Given the description of an element on the screen output the (x, y) to click on. 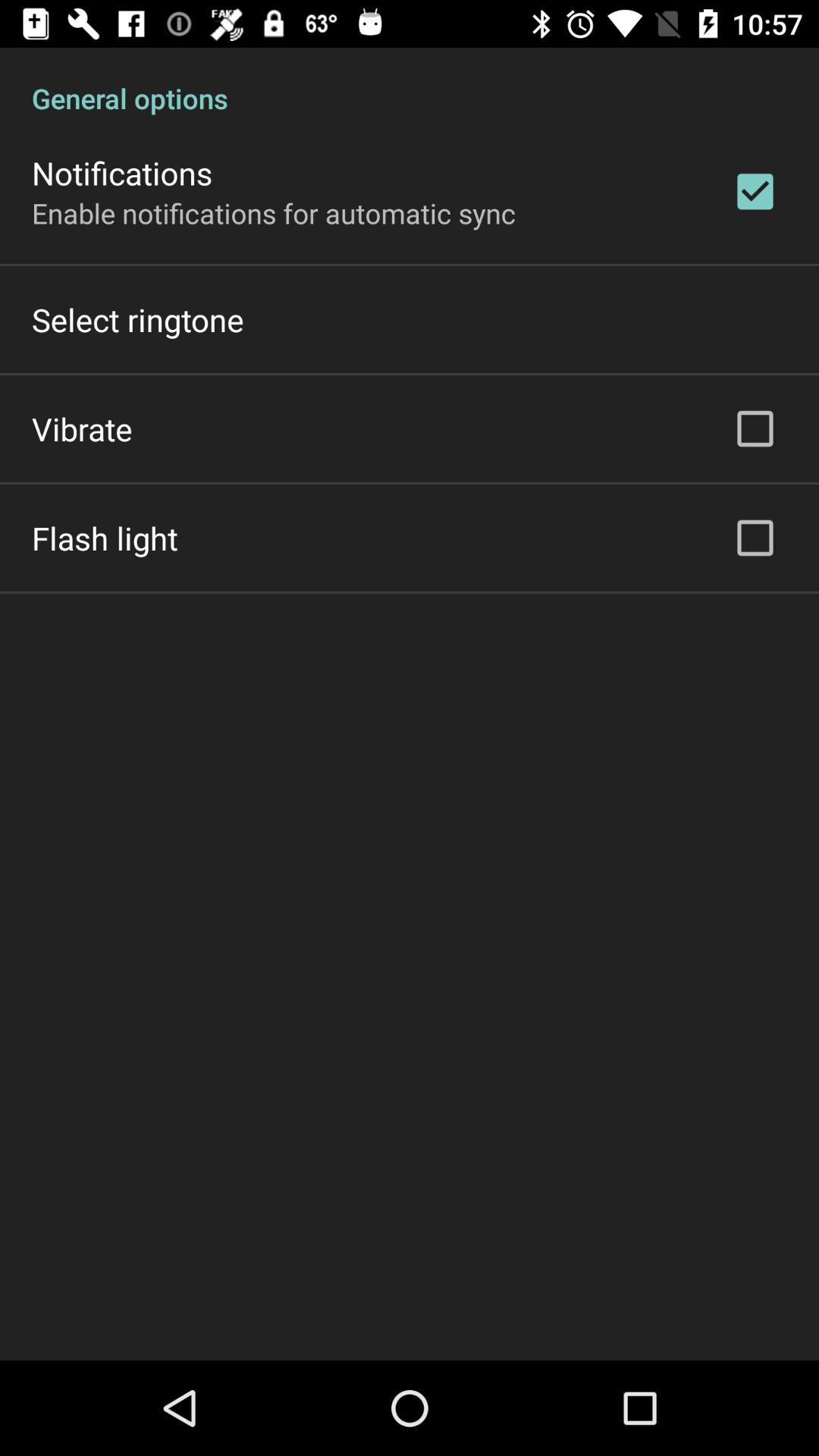
turn on enable notifications for icon (273, 213)
